Given the description of an element on the screen output the (x, y) to click on. 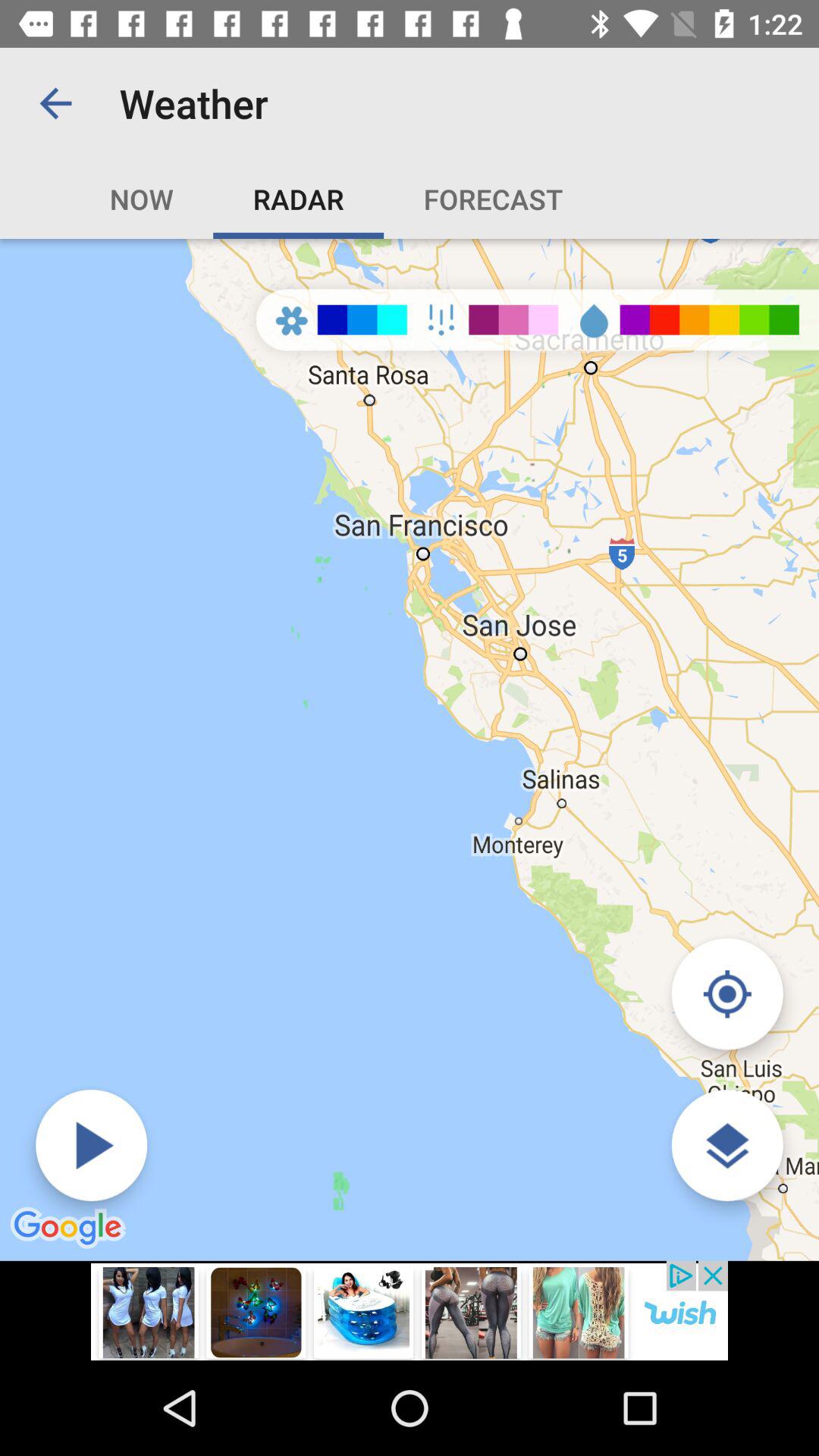
change view to 2d or 3d (727, 1145)
